Given the description of an element on the screen output the (x, y) to click on. 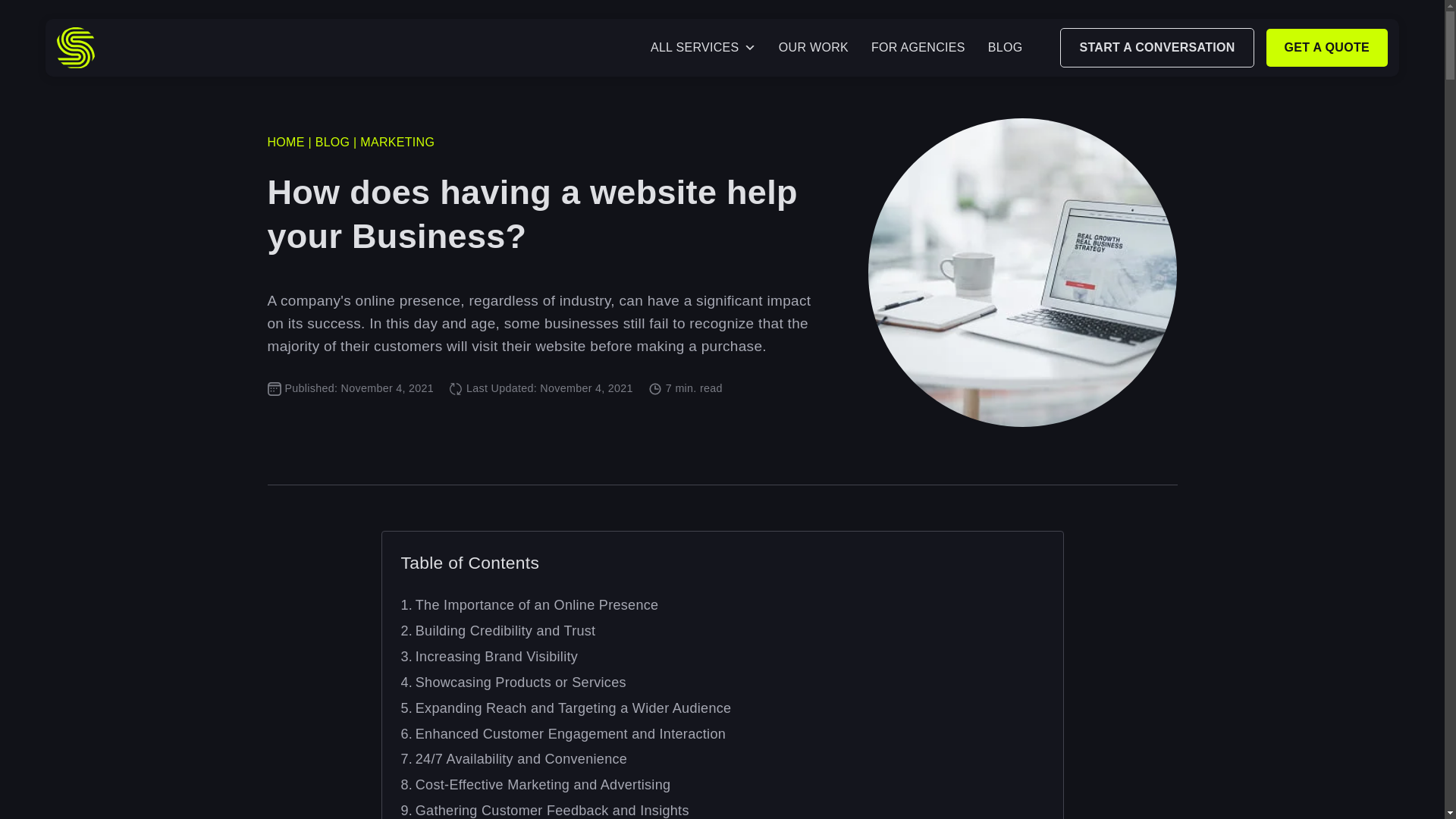
MARKETING (396, 141)
START A CONVERSATION (1156, 47)
BLOG (332, 141)
Building Credibility and Trust (497, 630)
Expanding Reach and Targeting a Wider Audience (565, 708)
GET A QUOTE (1326, 47)
Increasing Brand Visibility (489, 657)
HOME (285, 141)
Showcasing Products or Services (513, 682)
Cost-Effective Marketing and Advertising (534, 784)
